Given the description of an element on the screen output the (x, y) to click on. 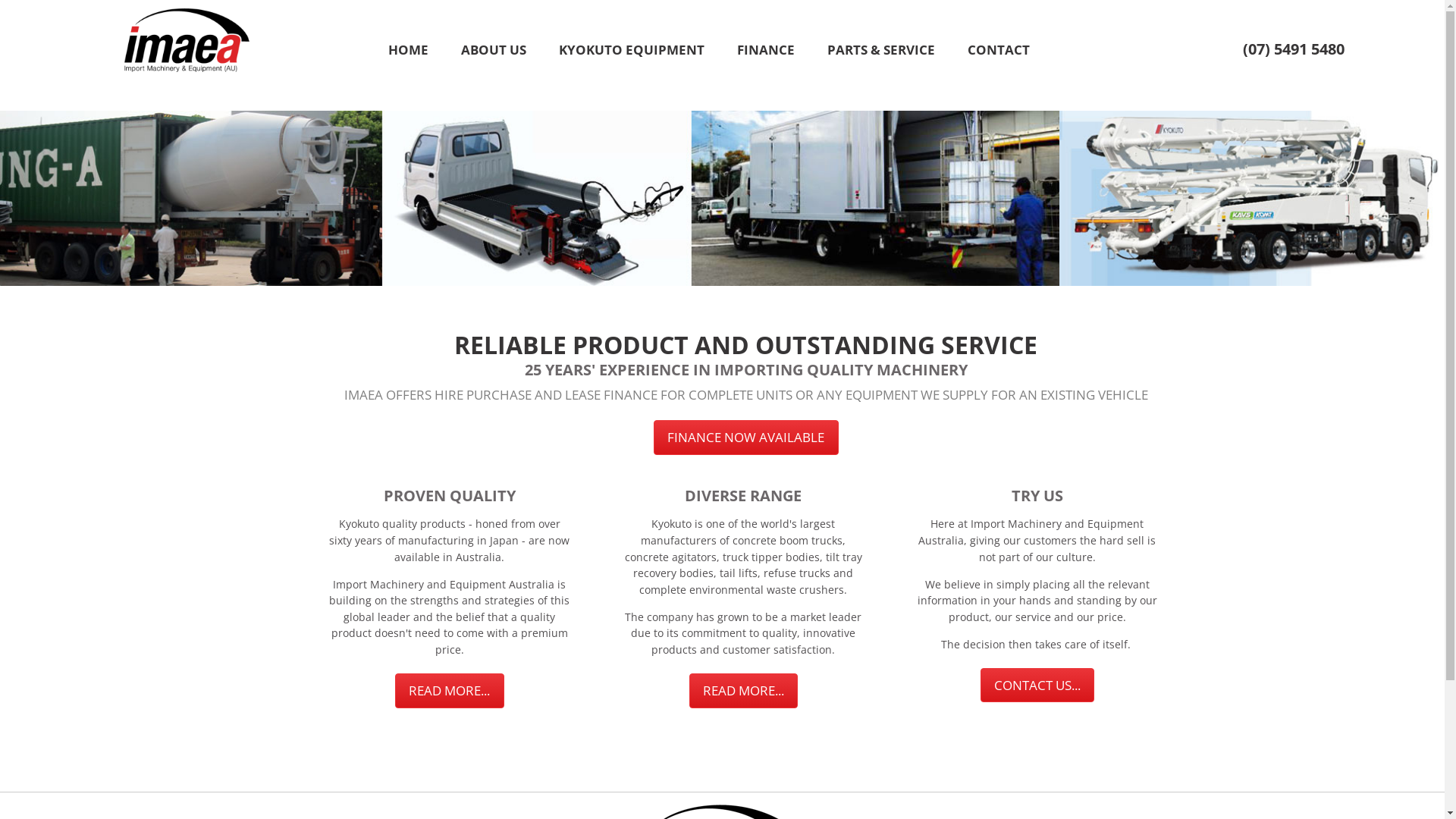
CONTACT US... Element type: text (1037, 685)
IMAEA Element type: hover (185, 39)
KYOKUTO EQUIPMENT Element type: text (631, 51)
CONTACT Element type: text (998, 51)
FINANCE NOW AVAILABLE Element type: text (745, 437)
ABOUT US Element type: text (493, 51)
FINANCE Element type: text (766, 51)
READ MORE... Element type: text (743, 690)
HOME Element type: text (407, 51)
READ MORE... Element type: text (449, 690)
PARTS & SERVICE Element type: text (881, 51)
(07) 5491 5480 Element type: text (1292, 48)
